Given the description of an element on the screen output the (x, y) to click on. 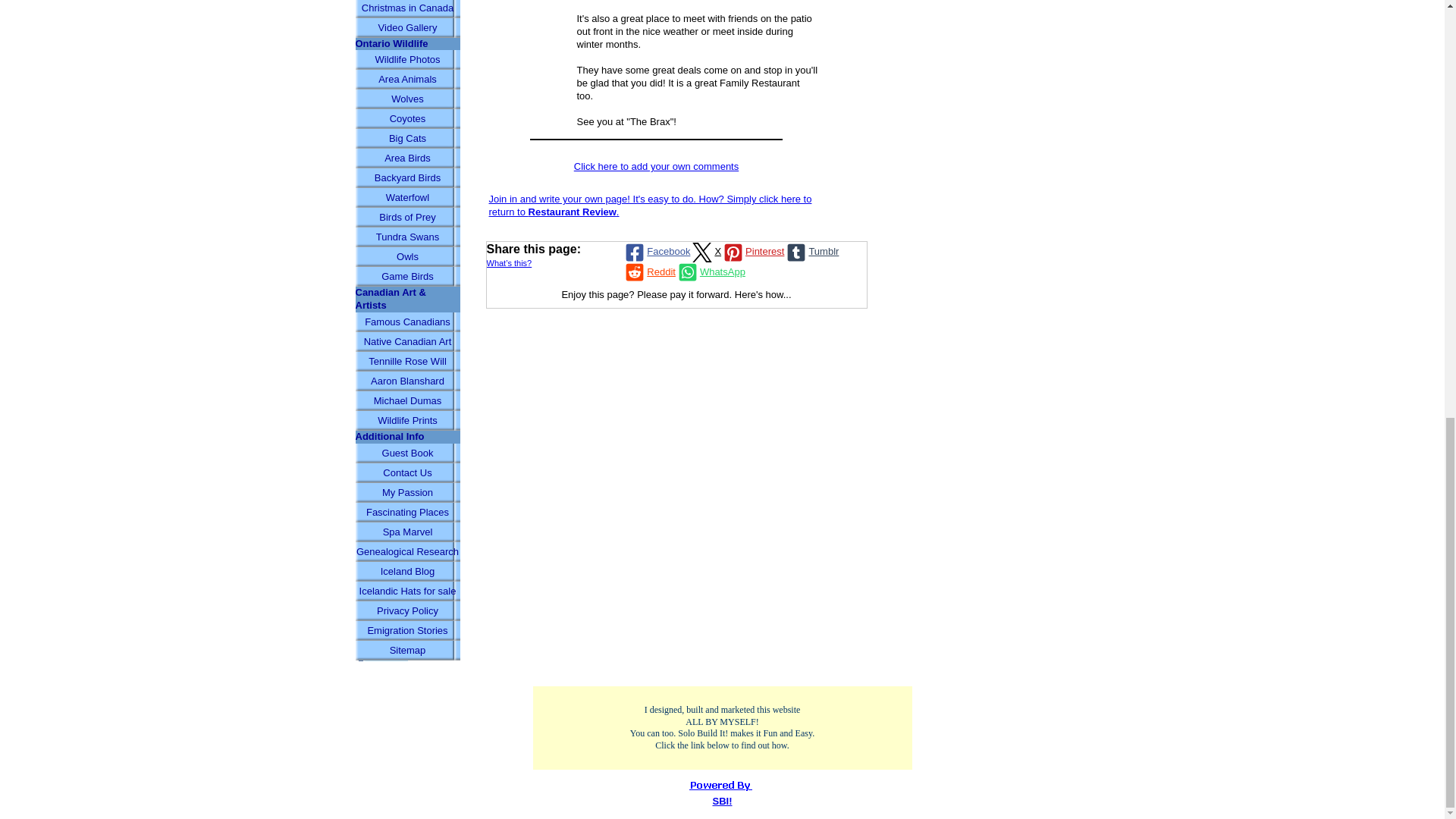
Reddit (649, 272)
Pinterest (752, 251)
Facebook (656, 251)
WhatsApp (710, 272)
X (705, 251)
Tumblr (811, 251)
Click here to add your own comments (655, 165)
